Given the description of an element on the screen output the (x, y) to click on. 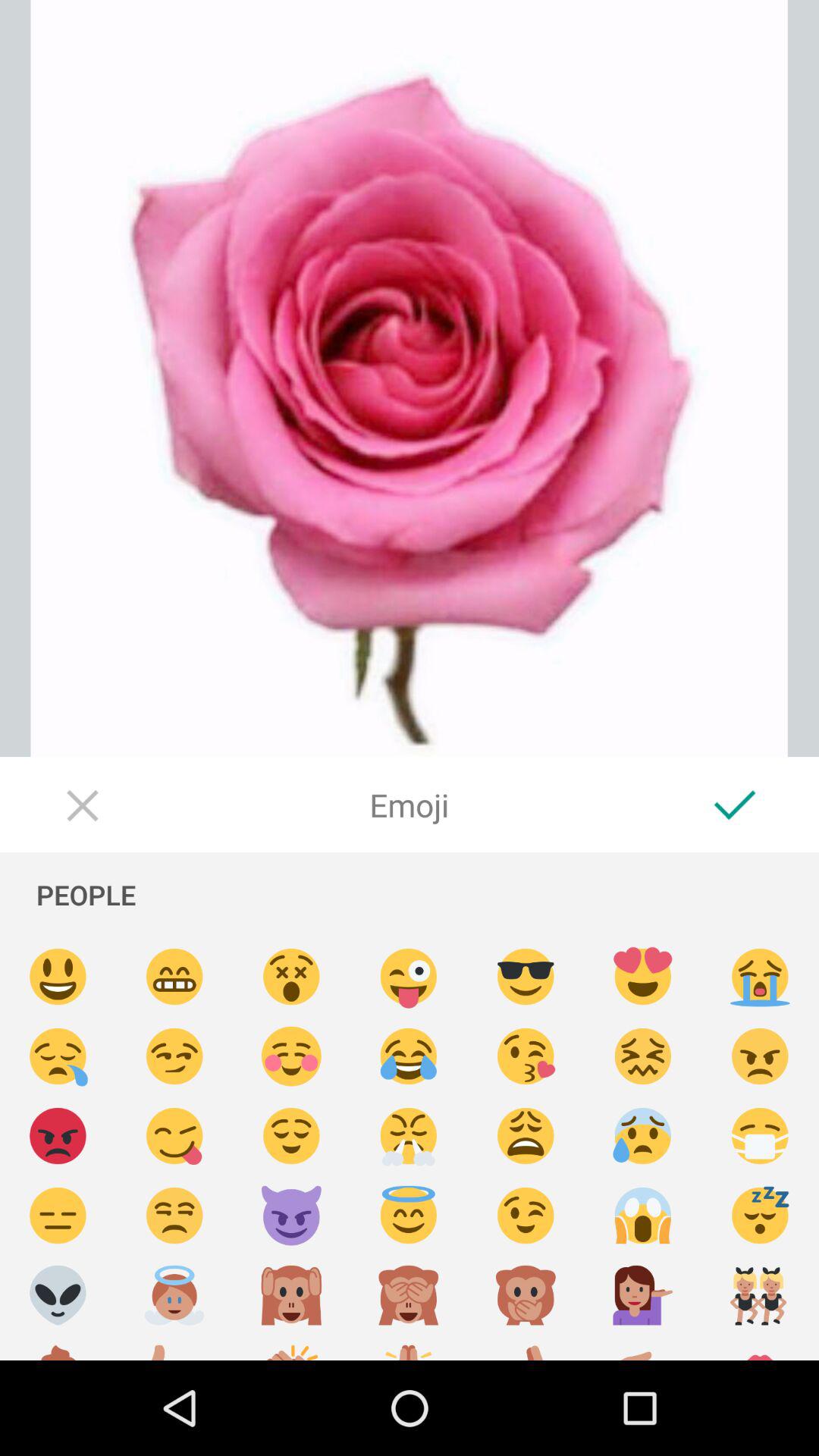
add an emoji (525, 1347)
